Given the description of an element on the screen output the (x, y) to click on. 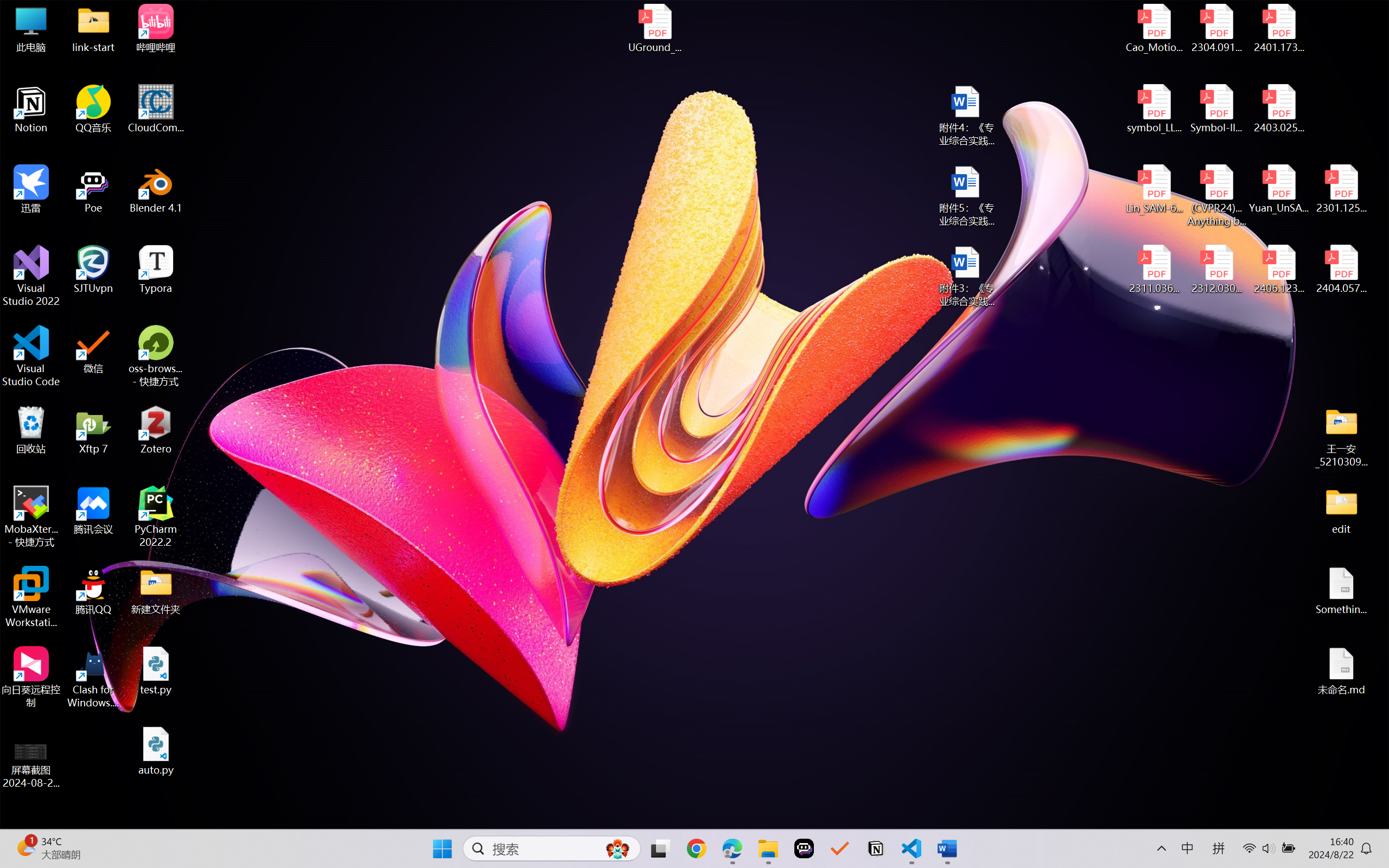
Visual Studio Code (31, 355)
(CVPR24)Matching Anything by Segmenting Anything.pdf (1216, 195)
VMware Workstation Pro (31, 597)
Poe (93, 189)
edit (1340, 510)
